Given the description of an element on the screen output the (x, y) to click on. 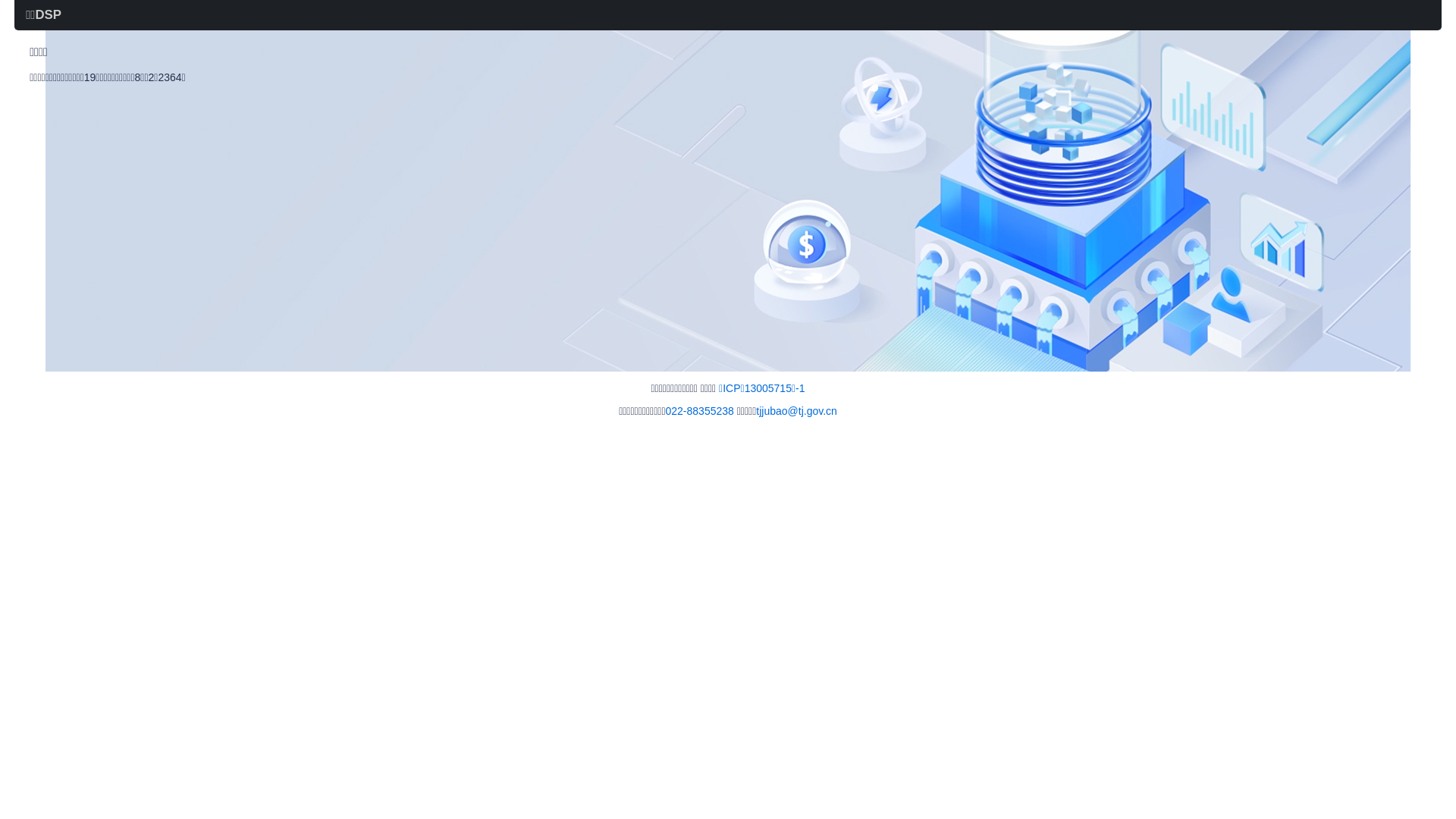
tjjubao@tj.gov.cn Element type: text (796, 410)
022-88355238 Element type: text (699, 410)
